Given the description of an element on the screen output the (x, y) to click on. 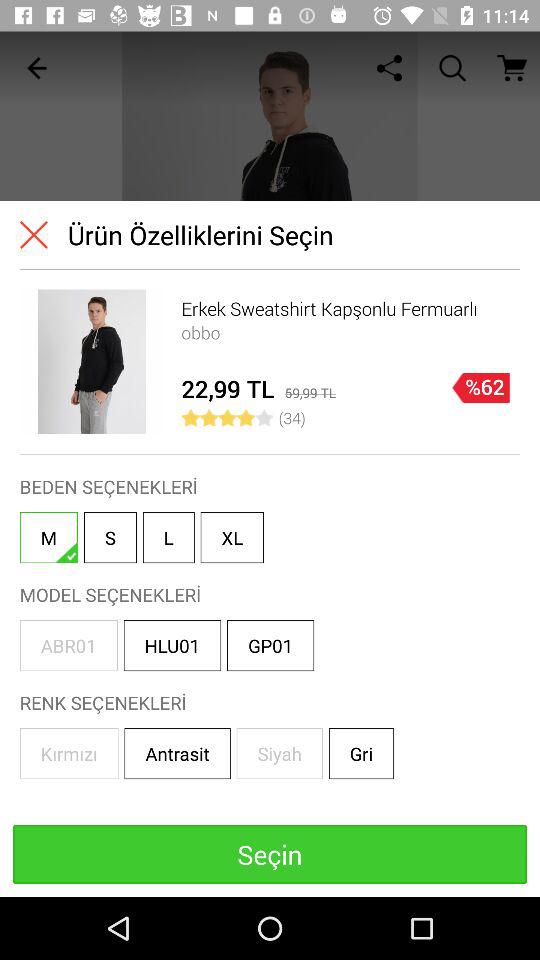
select gri in the bottom (361, 752)
click on the box that reads siyah (279, 752)
click on the red x mark on top left (33, 235)
click on the button which is in between m and l (110, 536)
click on the image which is above the beden secenekleri (91, 361)
